Given the description of an element on the screen output the (x, y) to click on. 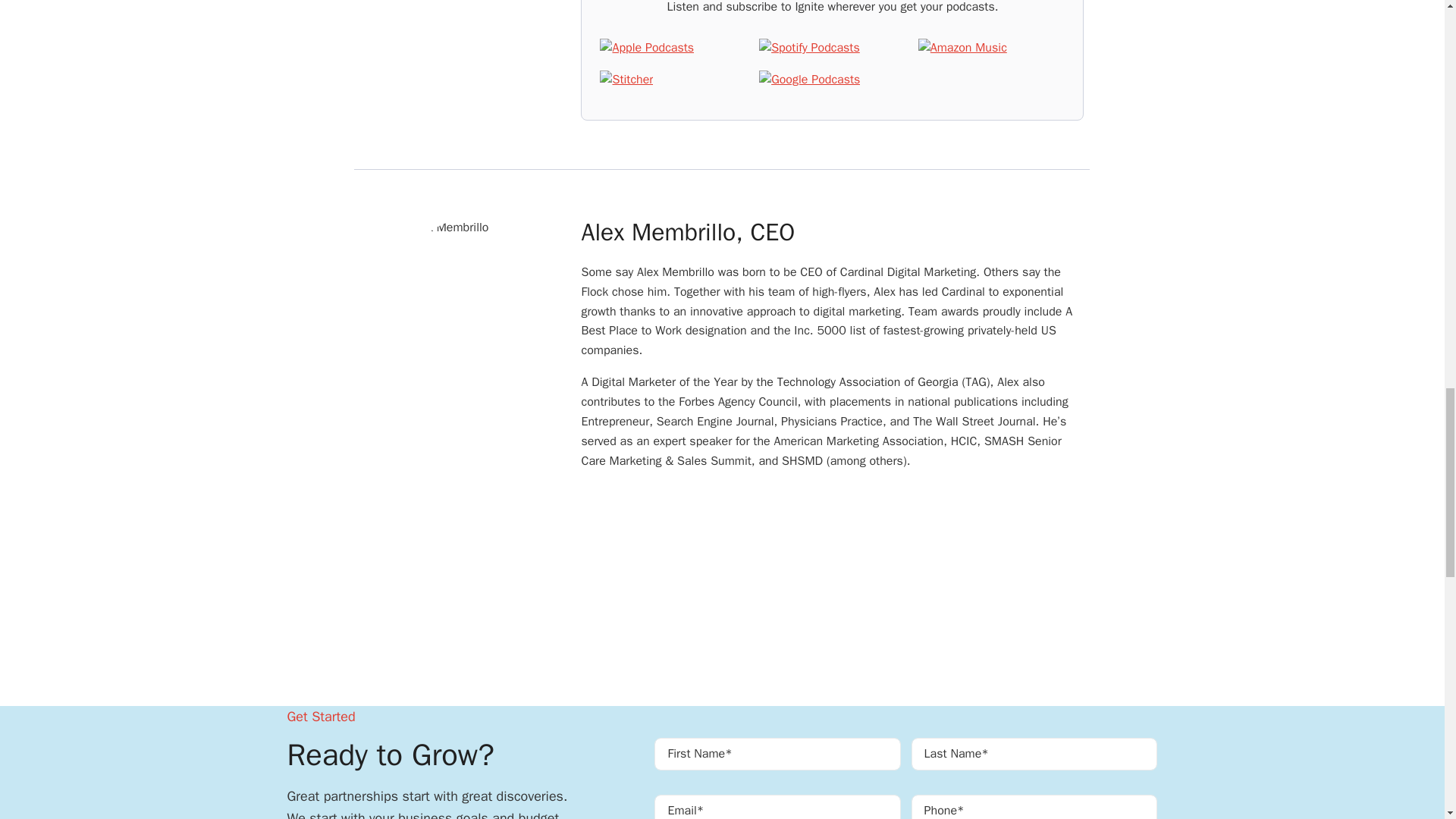
Subscribe on Google Podcasts (809, 80)
Subscribe on Stitcher (625, 80)
Subscribe on Spotify Podcasts (809, 48)
Subscribe on Apple Podcasts (646, 48)
Subscribe on Amazon Music (962, 48)
